Given the description of an element on the screen output the (x, y) to click on. 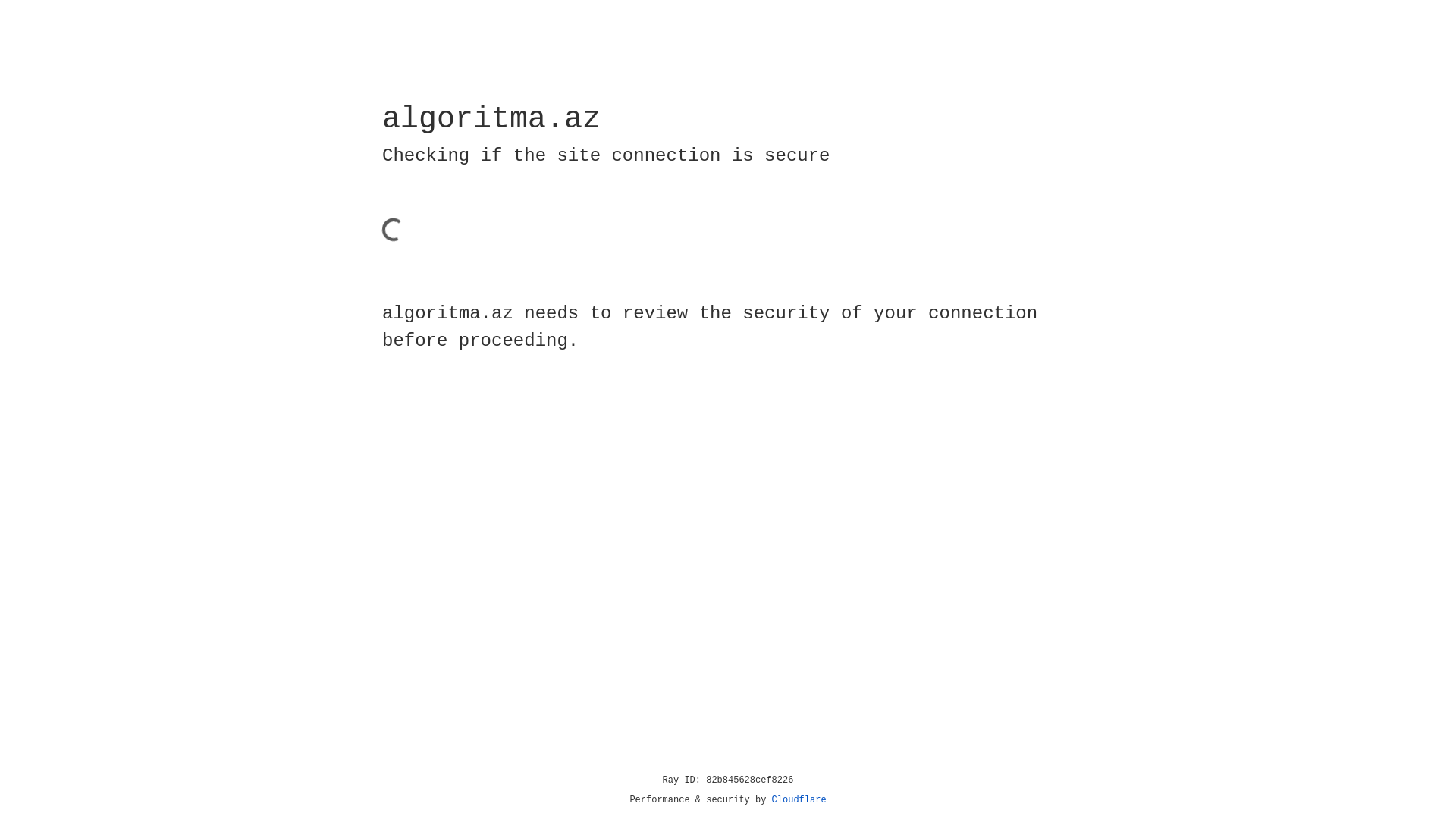
Cloudflare Element type: text (798, 799)
